Given the description of an element on the screen output the (x, y) to click on. 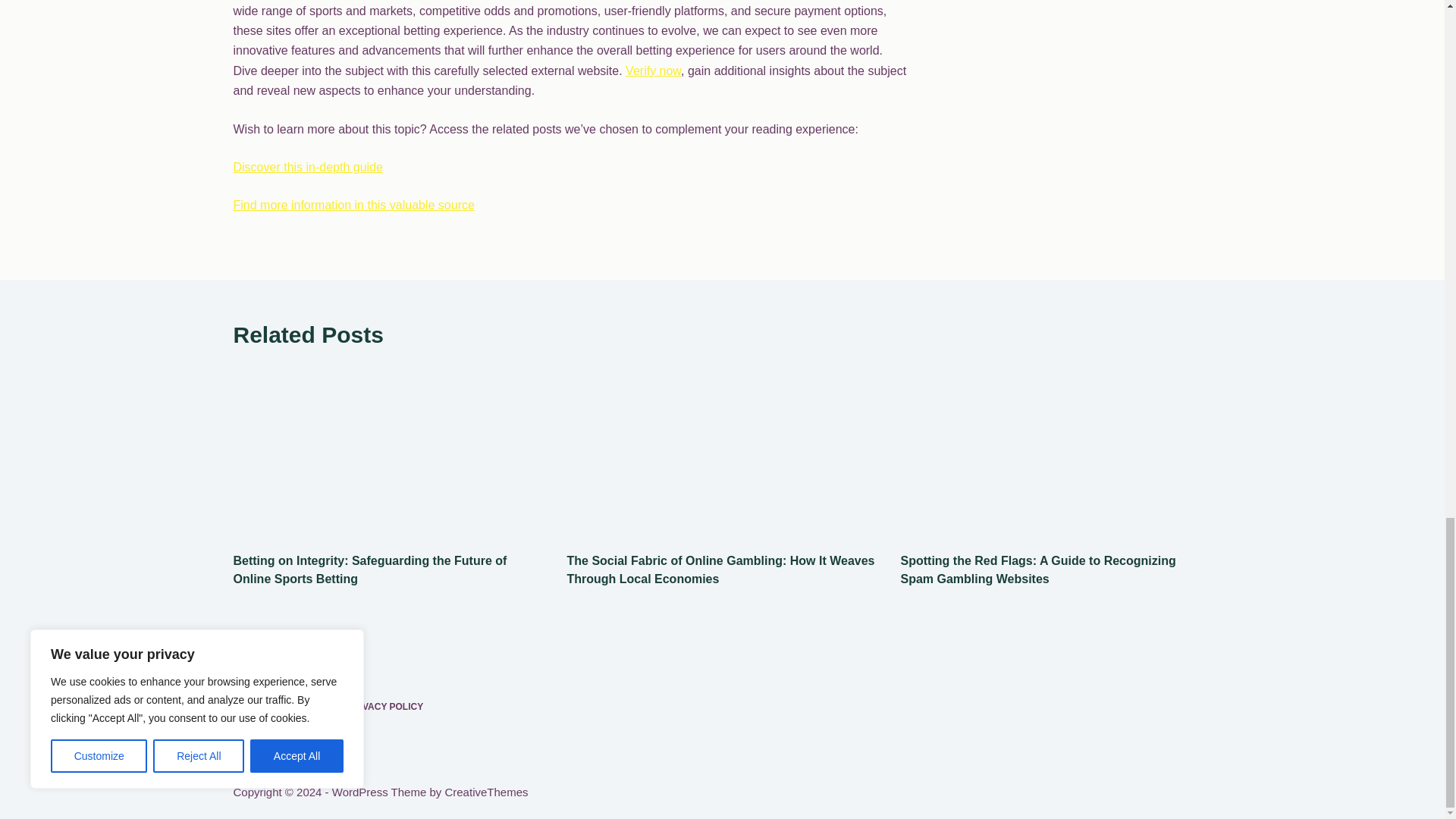
Verify now (653, 70)
Find more information in this valuable source (353, 205)
Discover this in-depth guide (307, 166)
